Given the description of an element on the screen output the (x, y) to click on. 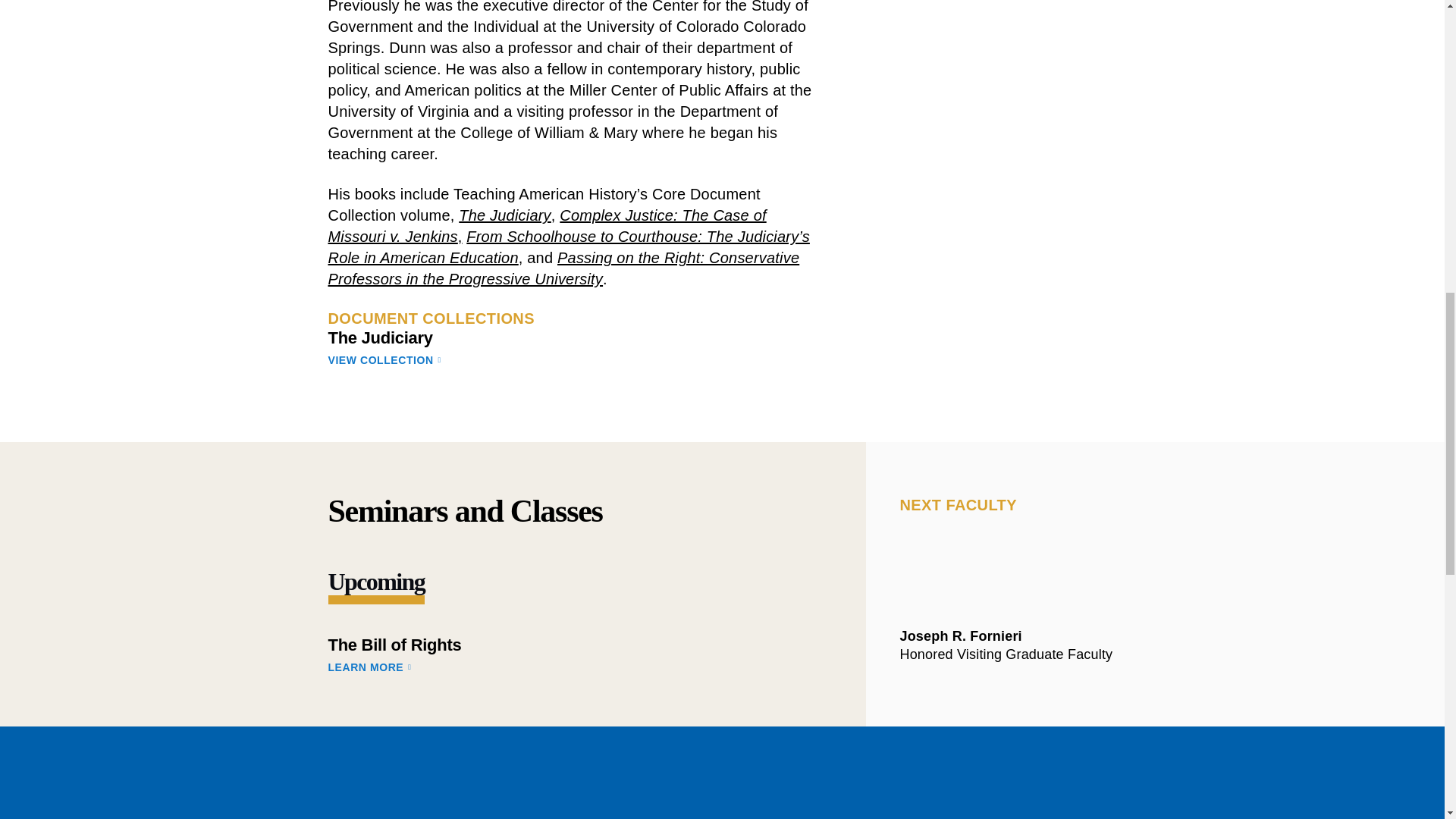
The Bill of Rights (394, 644)
VIEW COLLECTION (571, 359)
The Judiciary (504, 215)
The Judiciary (379, 337)
Joseph R. Fornieri (1028, 635)
Complex Justice: The Case of Missouri v. Jenkins, (546, 225)
LEARN MORE (573, 666)
